Given the description of an element on the screen output the (x, y) to click on. 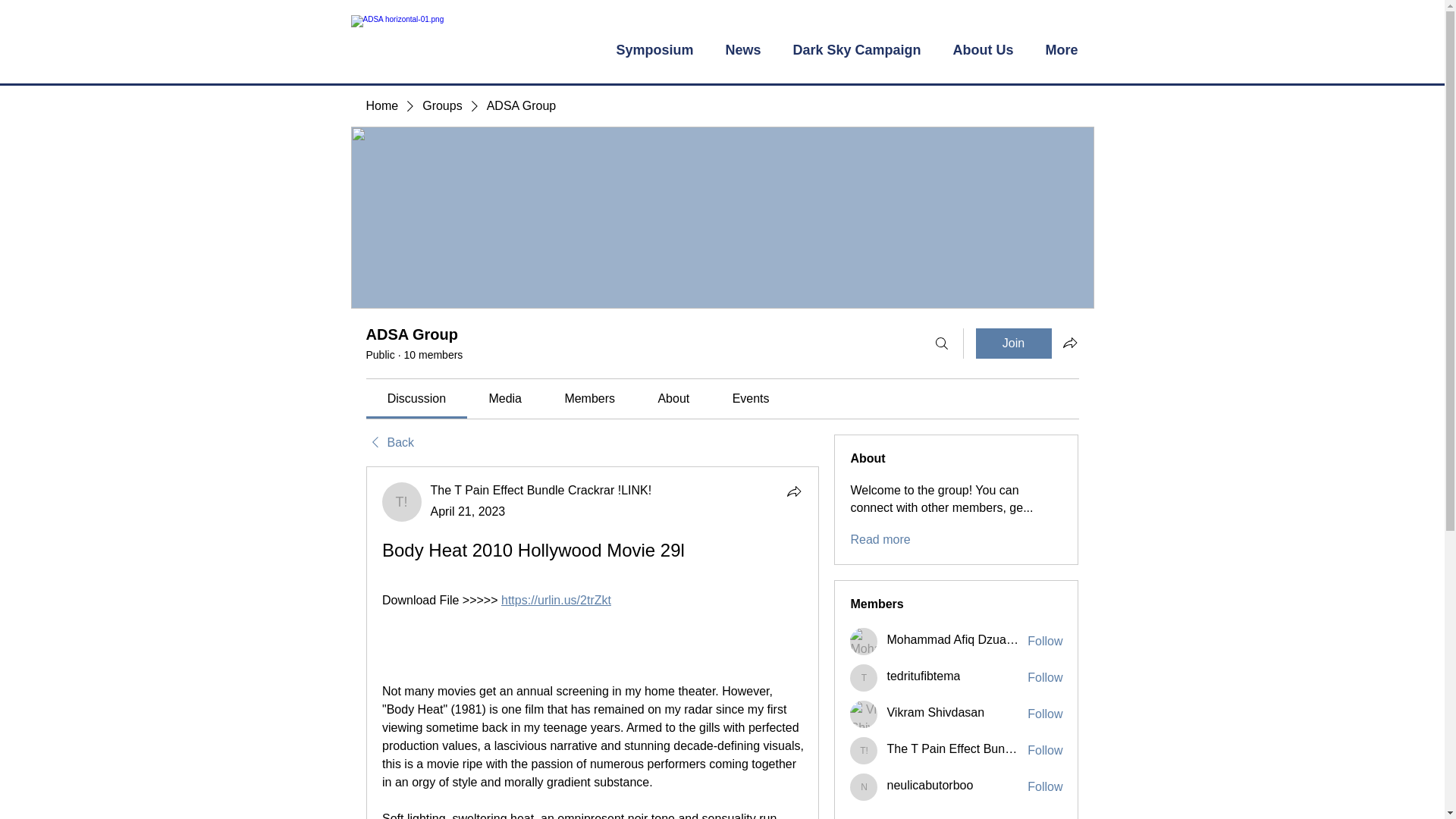
neulicabutorboo (863, 786)
About Us (983, 49)
Vikram Shivdasan (935, 712)
The T Pain Effect Bundle Crackrar !LINK! (541, 490)
The T Pain Effect Bundle Crackrar !LINK! (541, 490)
Home (381, 105)
Join (1013, 343)
tedritufibtema (922, 676)
Symposium (654, 49)
The T Pain Effect Bundle Crackrar !LINK! (863, 750)
